Given the description of an element on the screen output the (x, y) to click on. 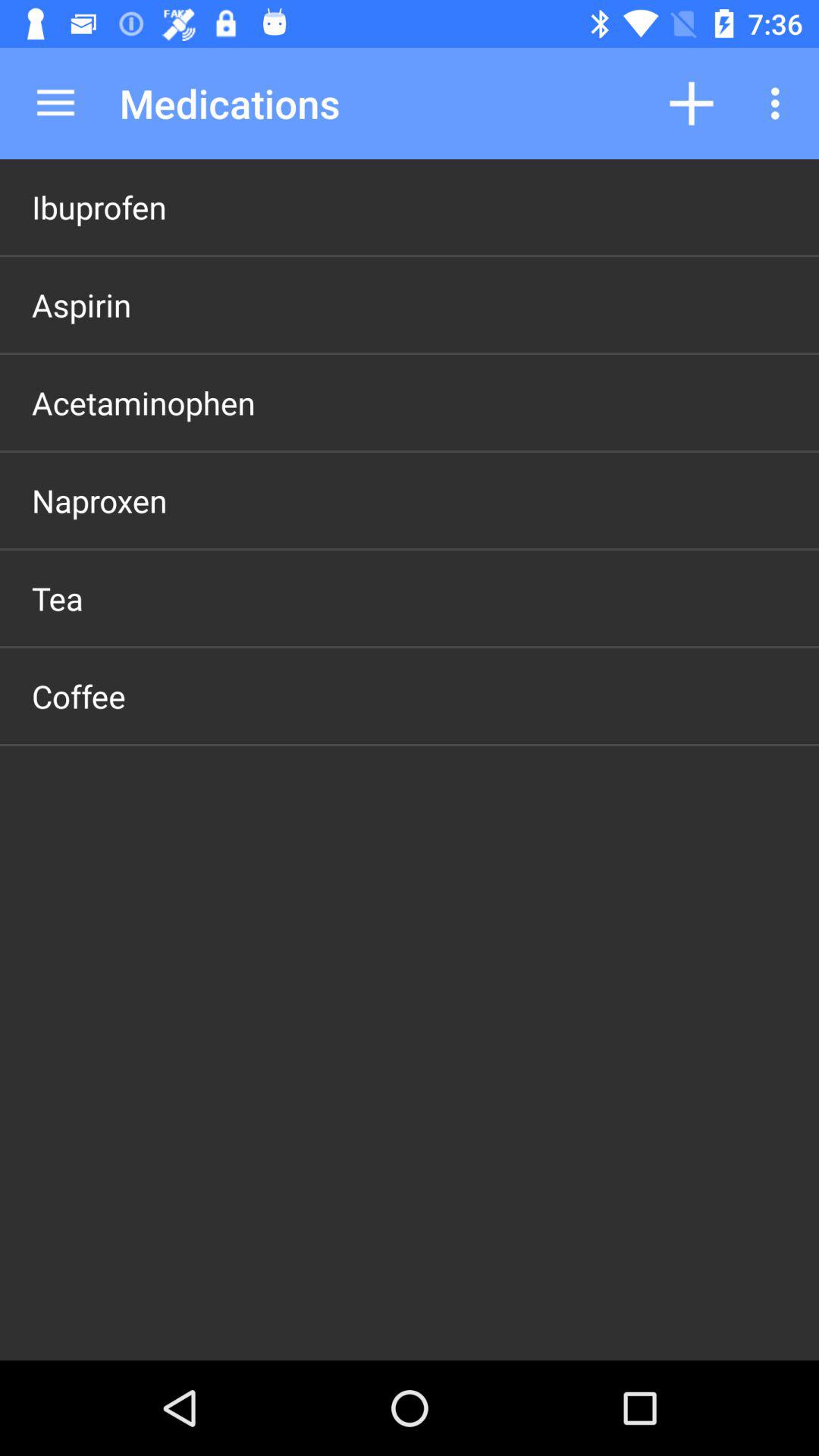
open the item above ibuprofen app (55, 103)
